Given the description of an element on the screen output the (x, y) to click on. 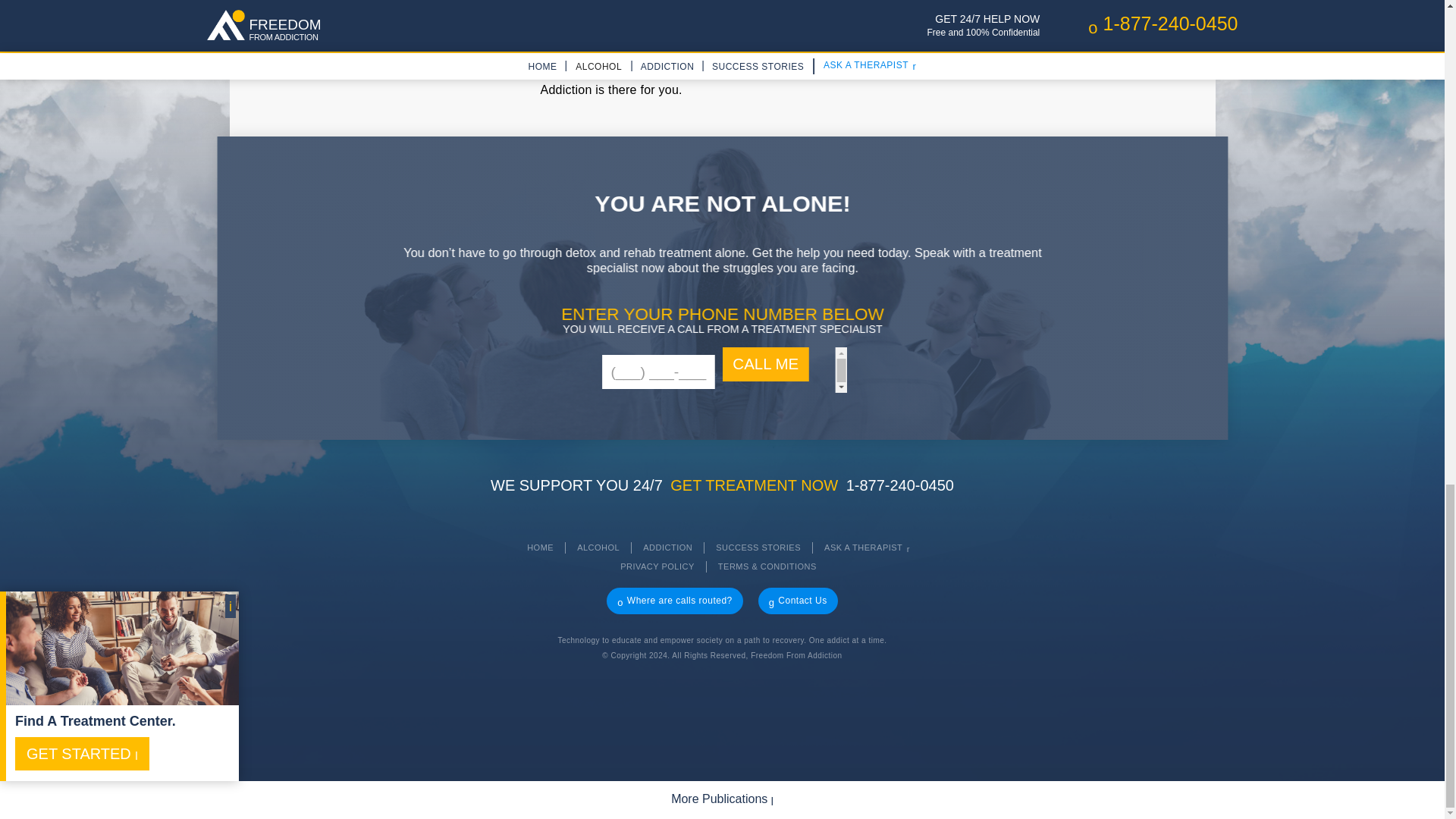
treatment (1020, 6)
ADDICTION (667, 547)
ASK A THERAPIST r (867, 547)
HOME (539, 547)
PRIVACY POLICY (656, 566)
1-877-240-0450 (899, 484)
ALCOHOL (598, 547)
SUCCESS STORIES (758, 547)
